Given the description of an element on the screen output the (x, y) to click on. 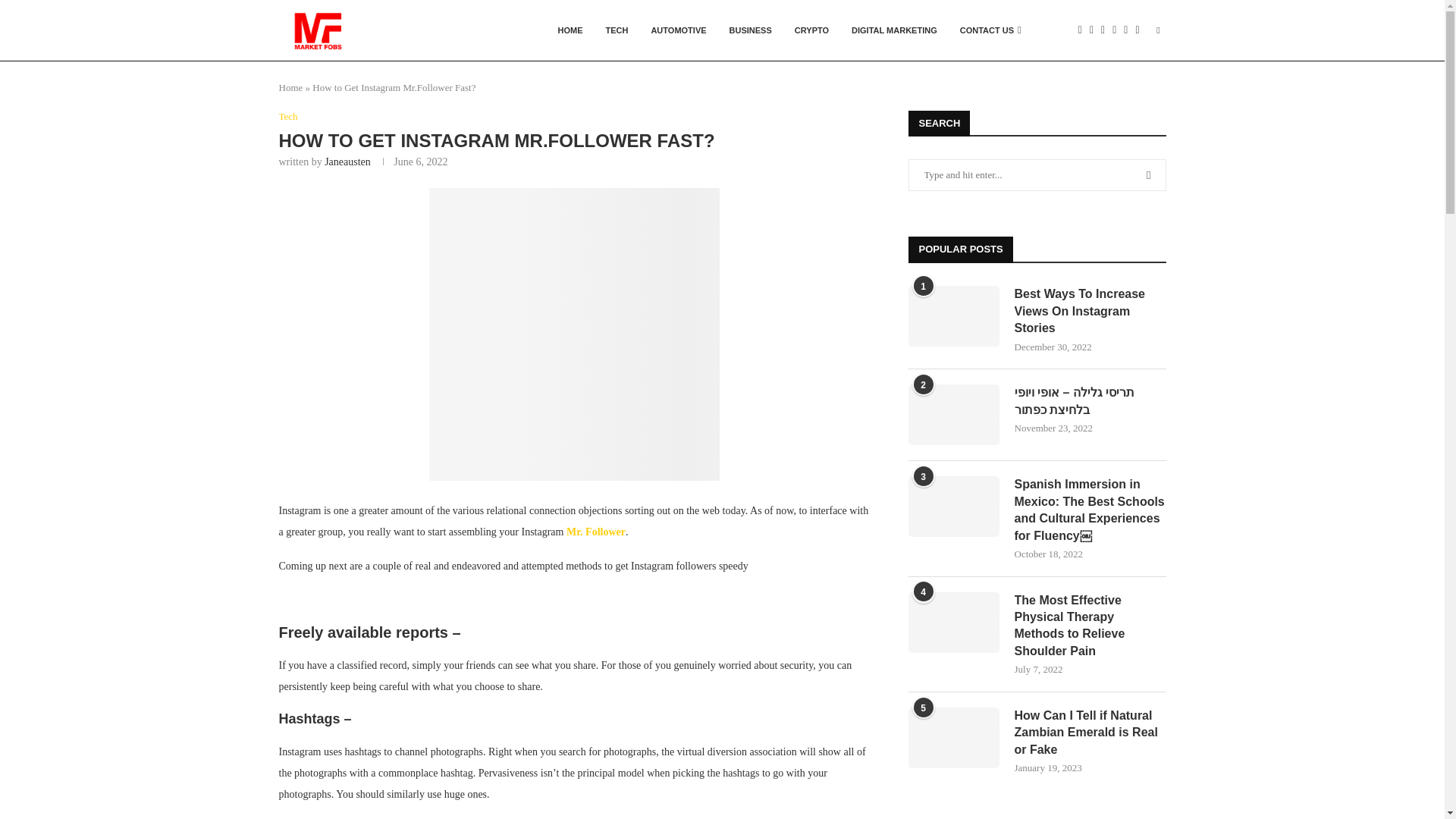
nstagram Mr.Follower (574, 334)
DIGITAL MARKETING (894, 30)
BUSINESS (750, 30)
Tech (288, 116)
Mr. Follower (594, 531)
AUTOMOTIVE (678, 30)
CRYPTO (811, 30)
Janeausten (347, 161)
CONTACT US (990, 30)
Home (290, 87)
